Given the description of an element on the screen output the (x, y) to click on. 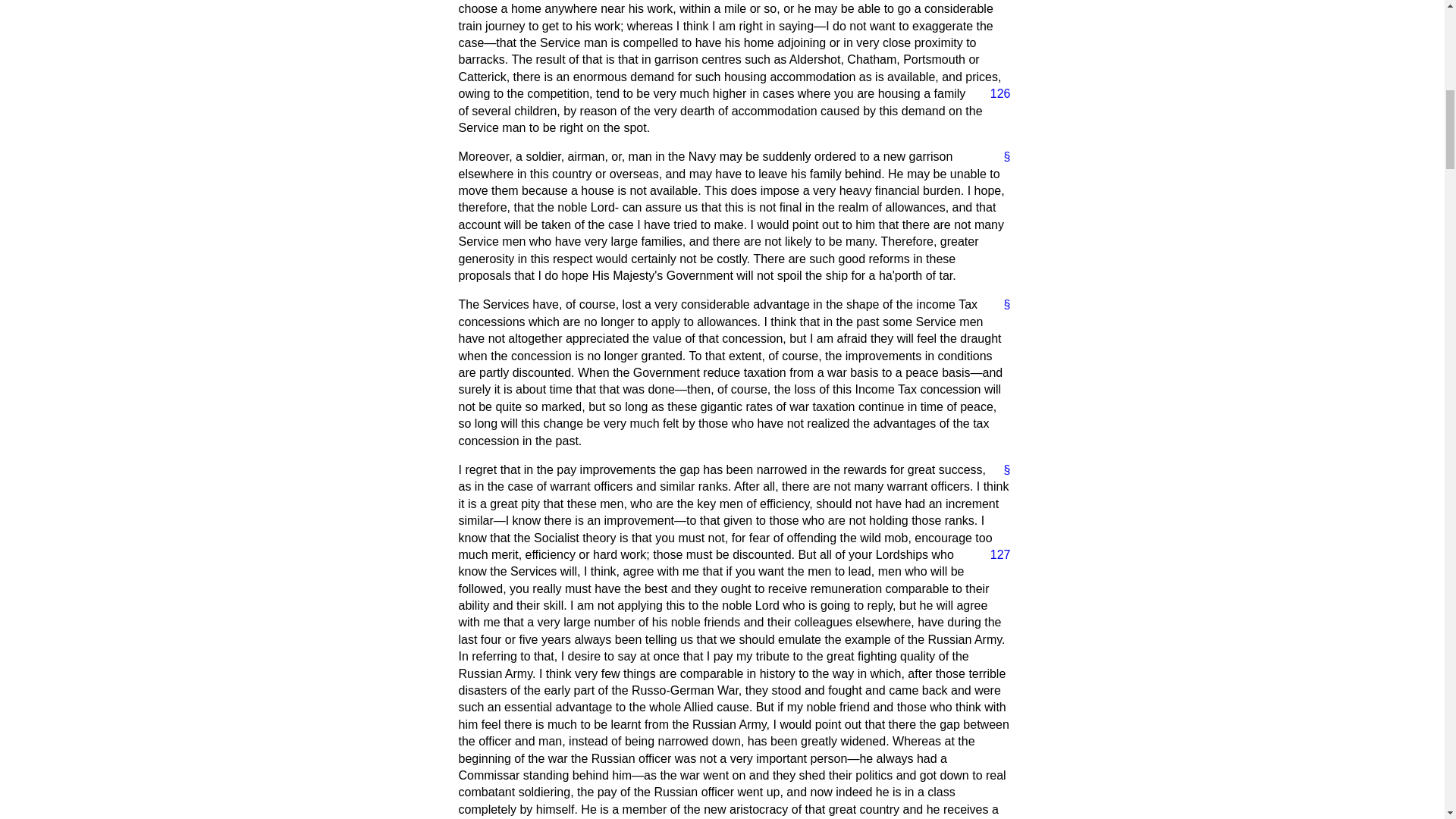
Link to this contribution (1000, 469)
Link to this contribution (1000, 156)
126 (994, 93)
Link to this contribution (1000, 304)
127 (994, 555)
